Given the description of an element on the screen output the (x, y) to click on. 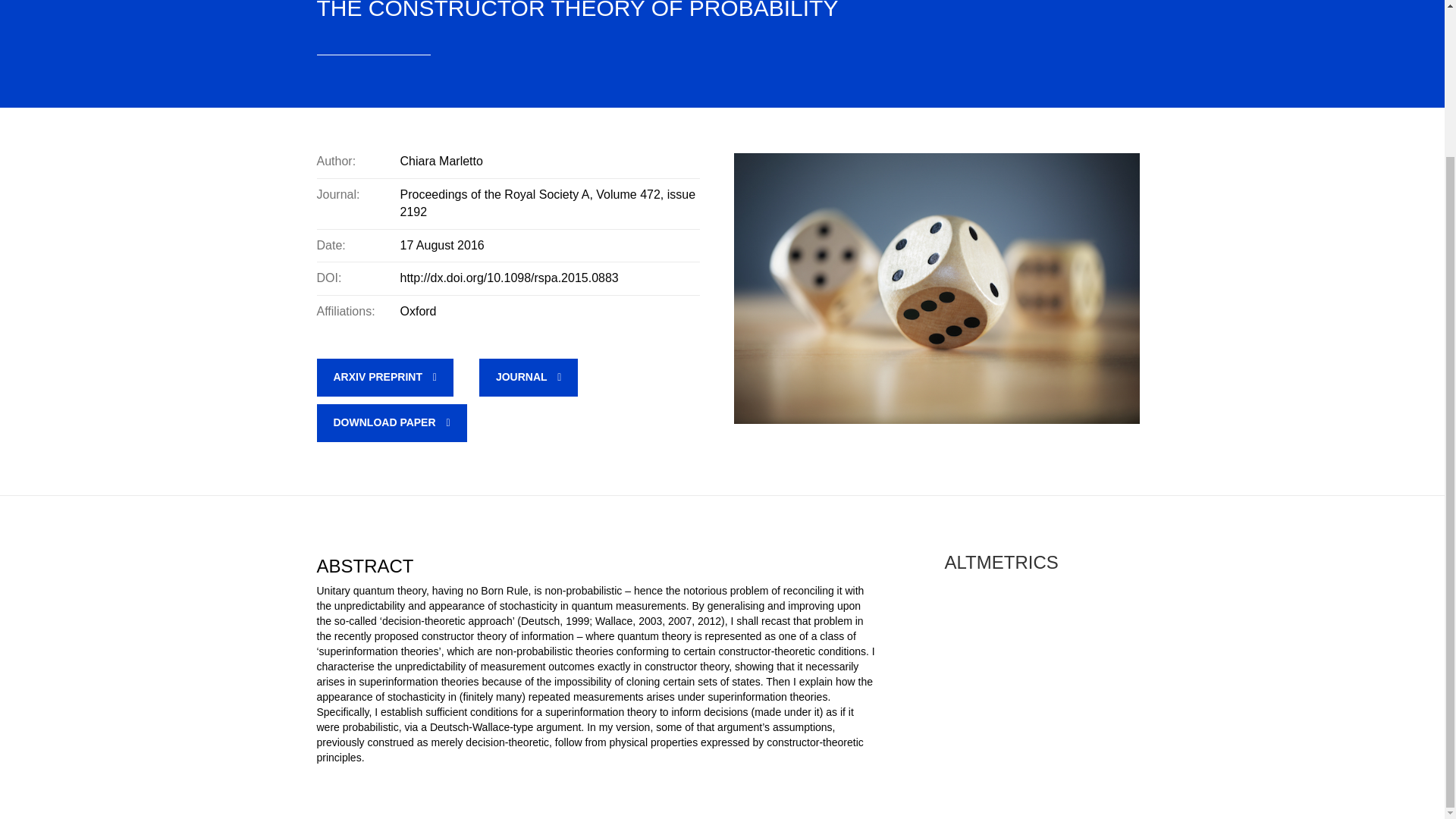
DOWNLOAD PAPER (392, 423)
ARXIV PREPRINT (384, 377)
probability-paper-img (936, 288)
JOURNAL (528, 377)
